Given the description of an element on the screen output the (x, y) to click on. 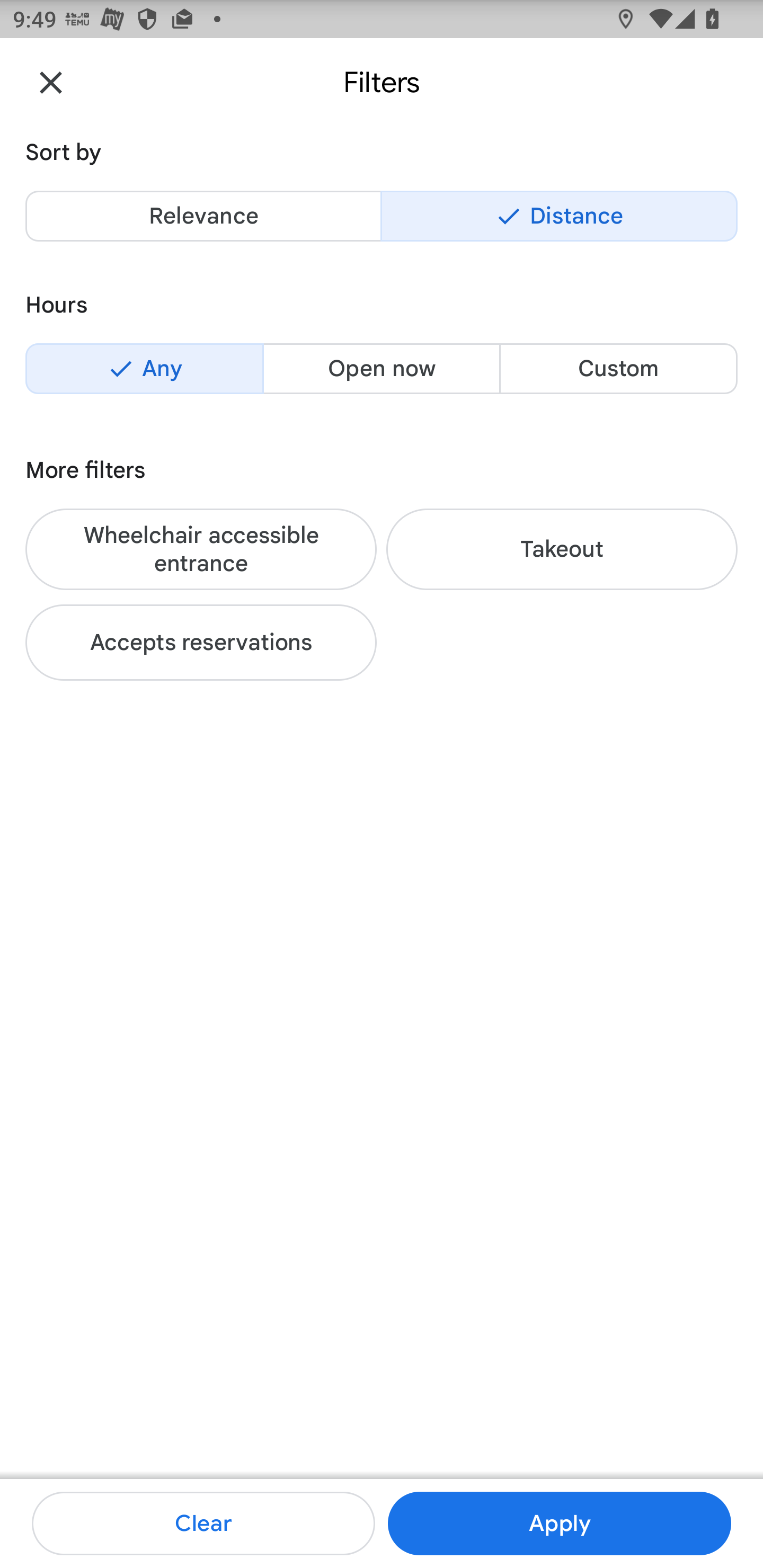
Close menu (50, 81)
Relevance (203, 216)
Distance (558, 216)
Any (144, 368)
Open now (381, 368)
Custom (618, 368)
Wheelchair accessible entrance (200, 548)
Takeout (561, 548)
Accepts reservations (200, 641)
Clear Clear Clear (203, 1522)
Apply Apply Apply (558, 1522)
